Given the description of an element on the screen output the (x, y) to click on. 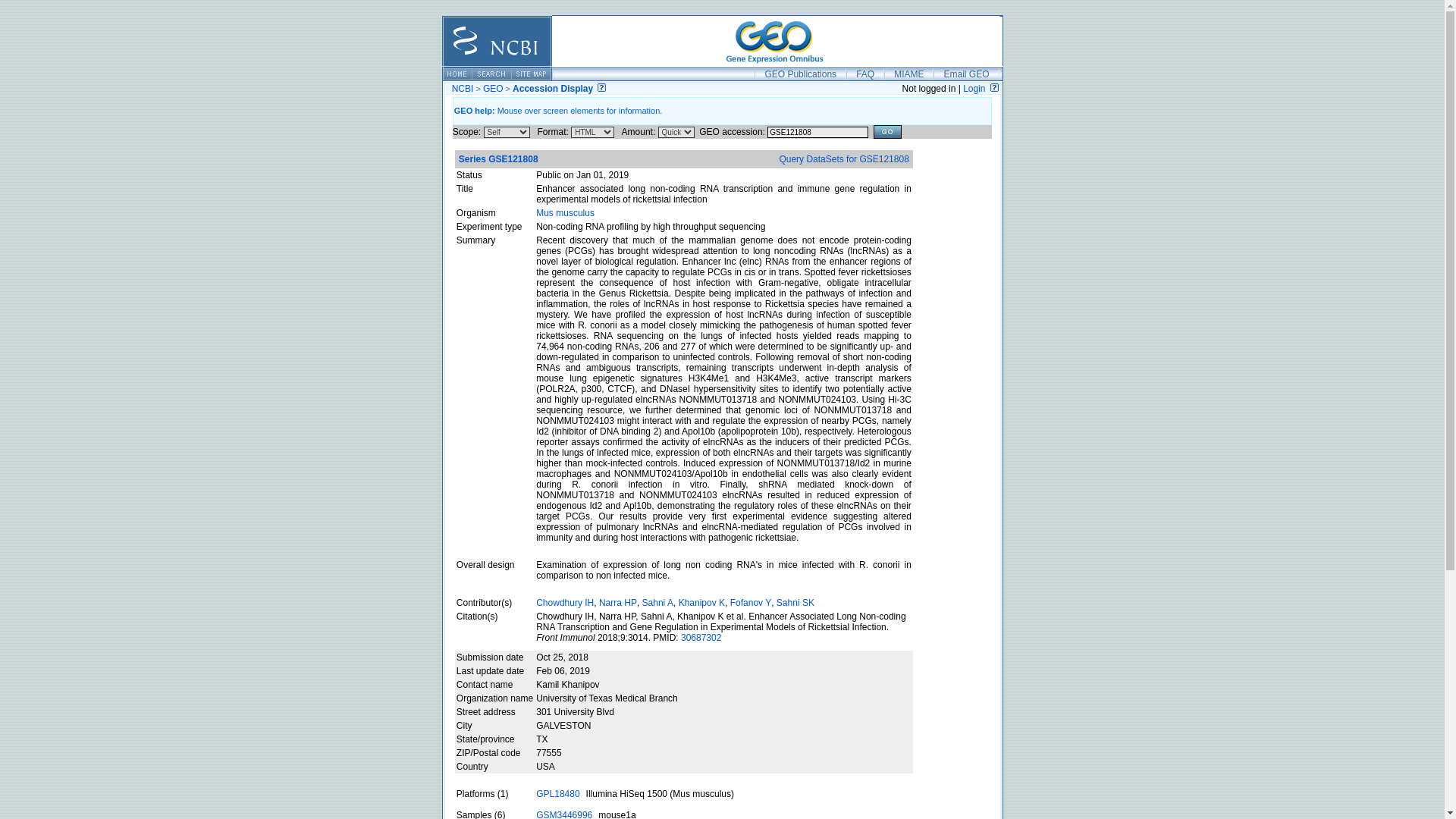
GEO (493, 88)
Fofanov Y (750, 602)
FAQ (864, 73)
Accession Display (552, 88)
Series GSE121808 (498, 158)
Login (973, 88)
30687302 (700, 637)
Narra HP (617, 602)
Sahni SK (794, 602)
Email GEO (965, 73)
GEO Publications (799, 73)
MIAME (908, 73)
GPL18480 (557, 793)
Link to PubMed record (700, 637)
GSE121808 (817, 131)
